Given the description of an element on the screen output the (x, y) to click on. 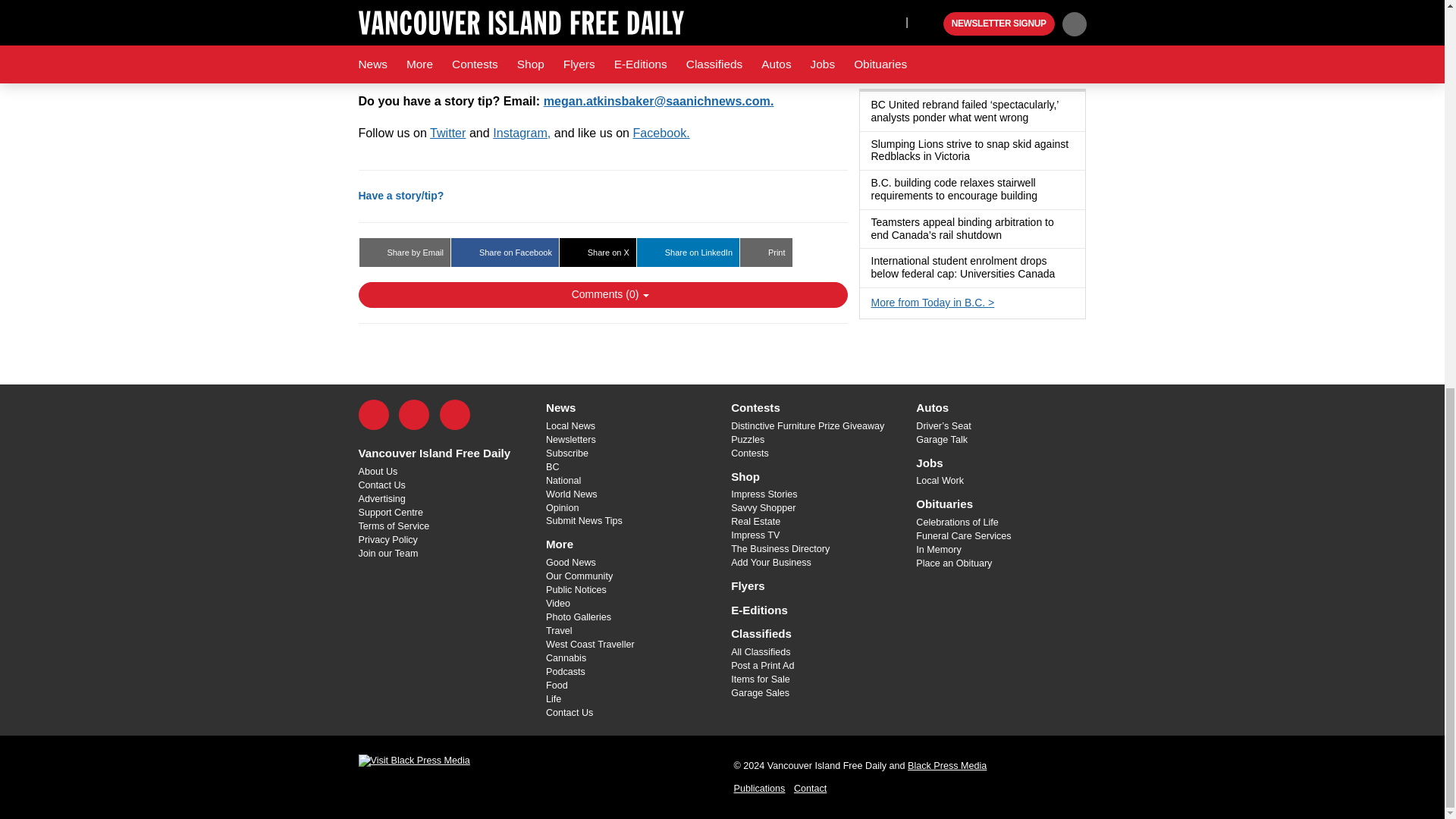
X (413, 414)
Show Comments (602, 294)
Facebook (373, 414)
Instagram (454, 414)
